Given the description of an element on the screen output the (x, y) to click on. 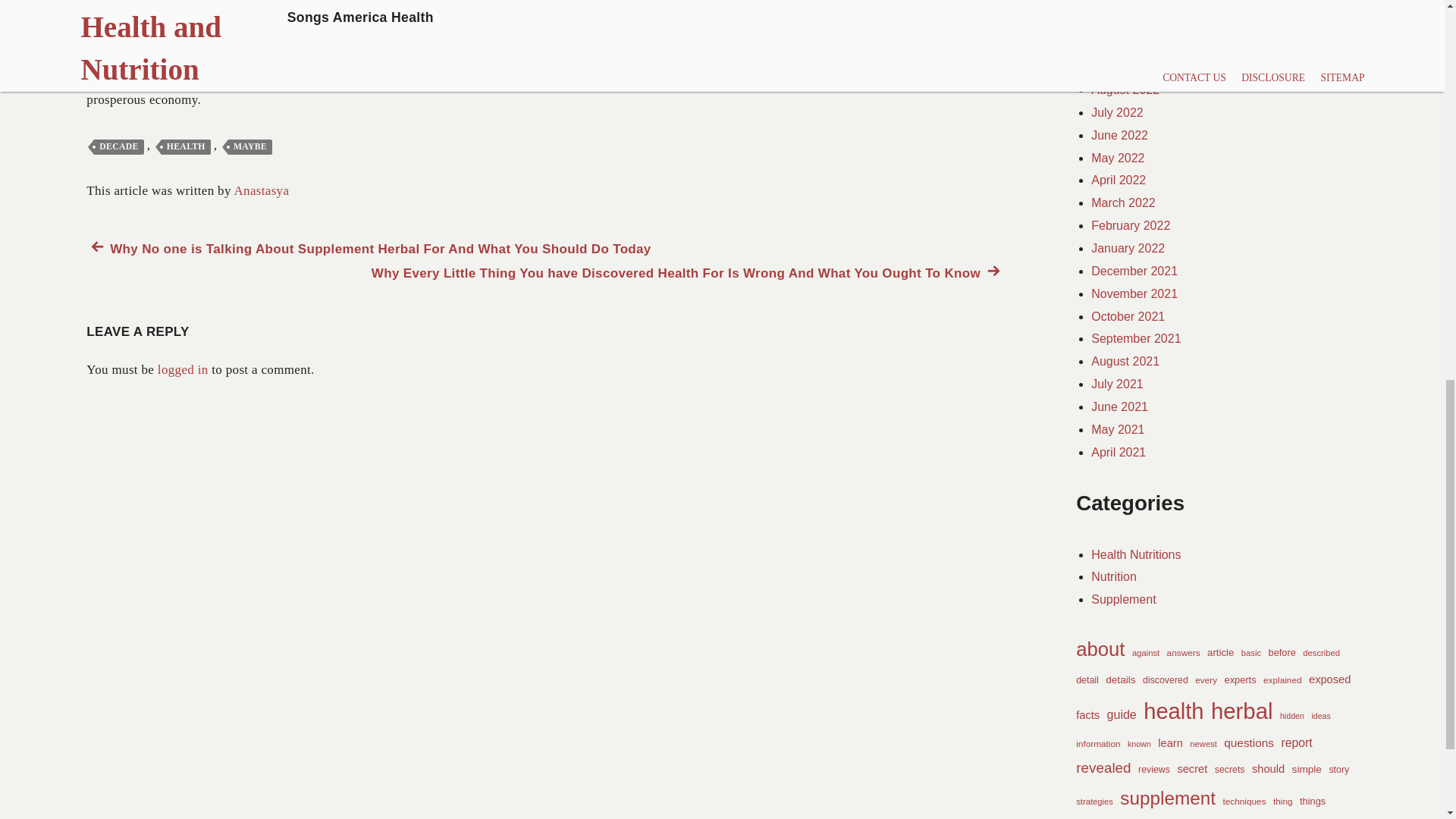
Anastasya (260, 190)
MAYBE (250, 147)
logged in (182, 369)
HEALTH (186, 147)
DECADE (118, 147)
